Given the description of an element on the screen output the (x, y) to click on. 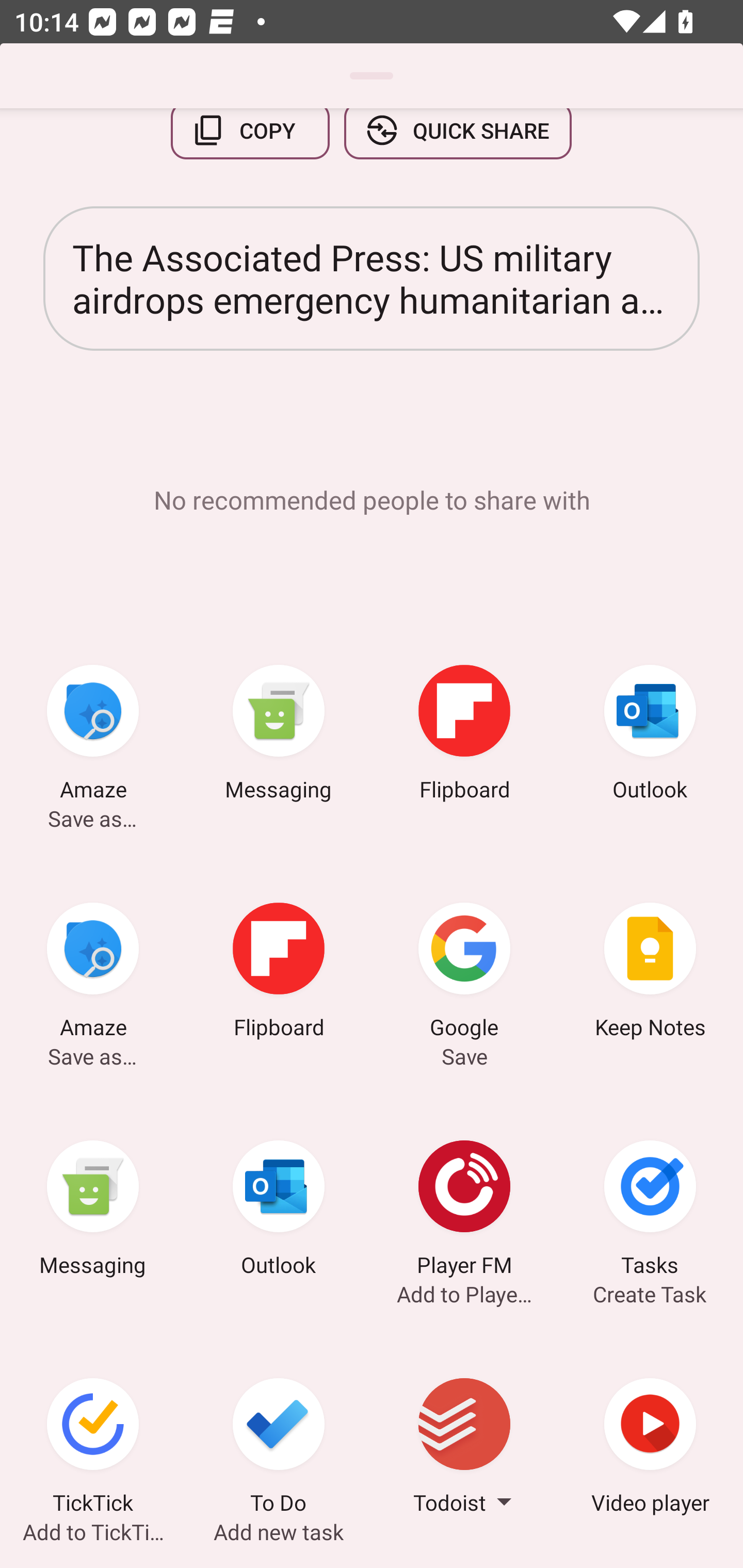
COPY (249, 141)
QUICK SHARE (457, 141)
Amaze Save as… (92, 735)
Messaging (278, 735)
Flipboard (464, 735)
Outlook (650, 735)
Amaze Save as… (92, 973)
Flipboard (278, 973)
Google Save (464, 973)
Keep Notes (650, 973)
Messaging (92, 1210)
Outlook (278, 1210)
Player FM Add to Player FM (464, 1210)
Tasks Create Task (650, 1210)
TickTick Add to TickTick (92, 1448)
To Do Add new task (278, 1448)
Todoist (464, 1448)
Video player (650, 1448)
